Given the description of an element on the screen output the (x, y) to click on. 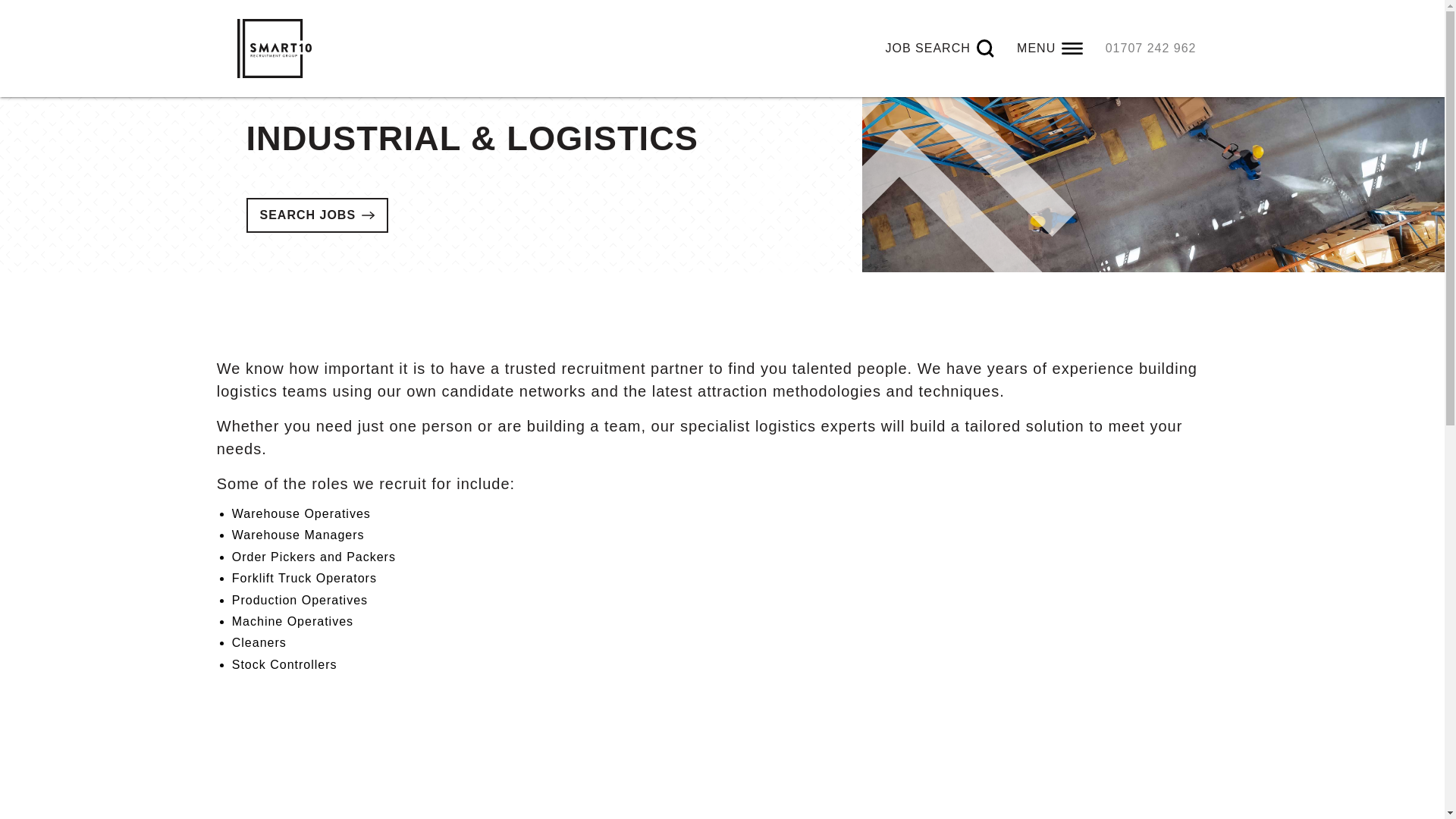
01707 242 962 (1151, 48)
JOB SEARCH (939, 48)
SEARCH JOBS (316, 215)
MENU (1050, 48)
